Given the description of an element on the screen output the (x, y) to click on. 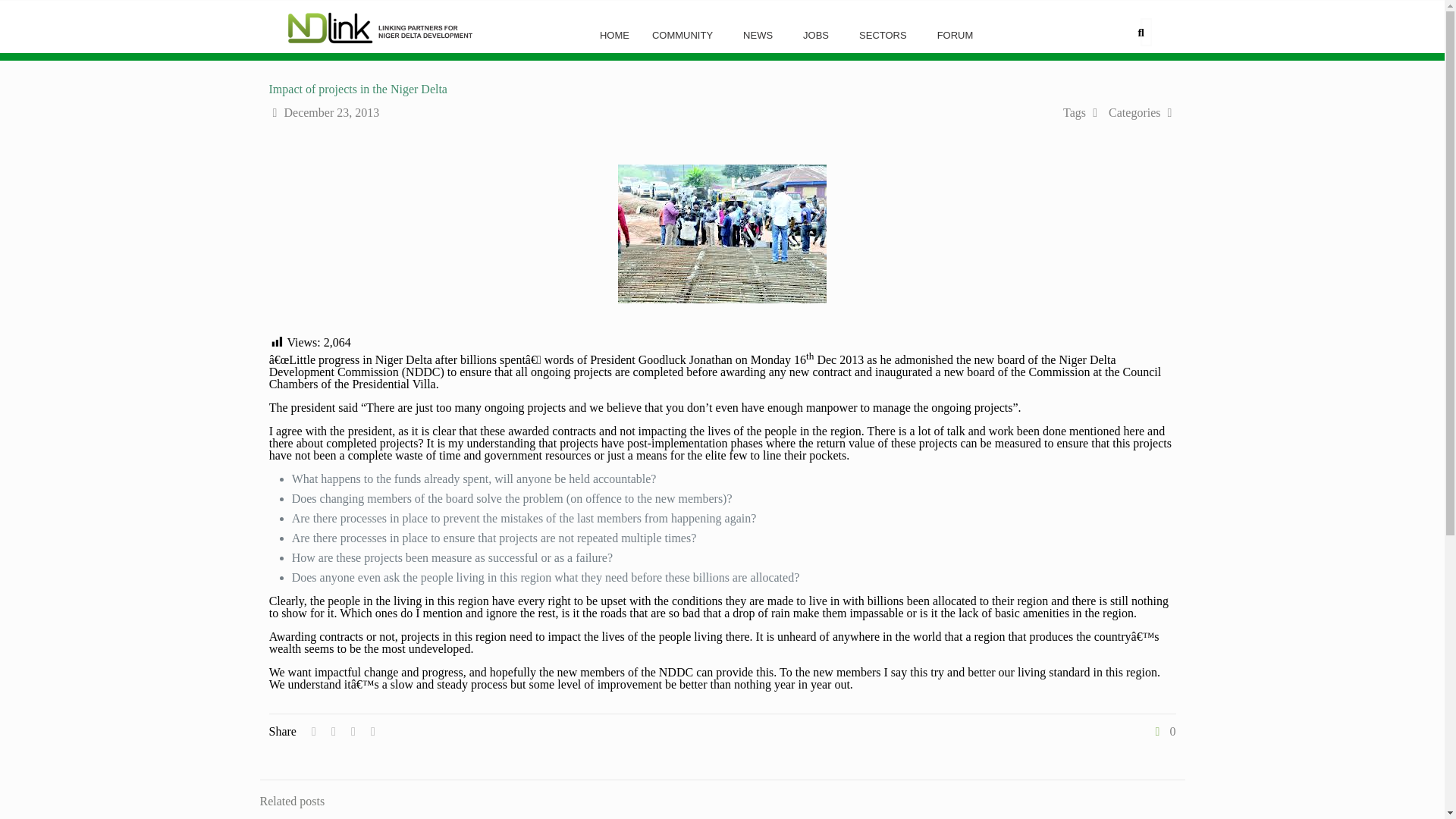
JOBS (819, 34)
NEWS (762, 34)
COMMUNITY (686, 34)
HOME (614, 34)
SECTORS (886, 34)
FORUM (959, 34)
